Given the description of an element on the screen output the (x, y) to click on. 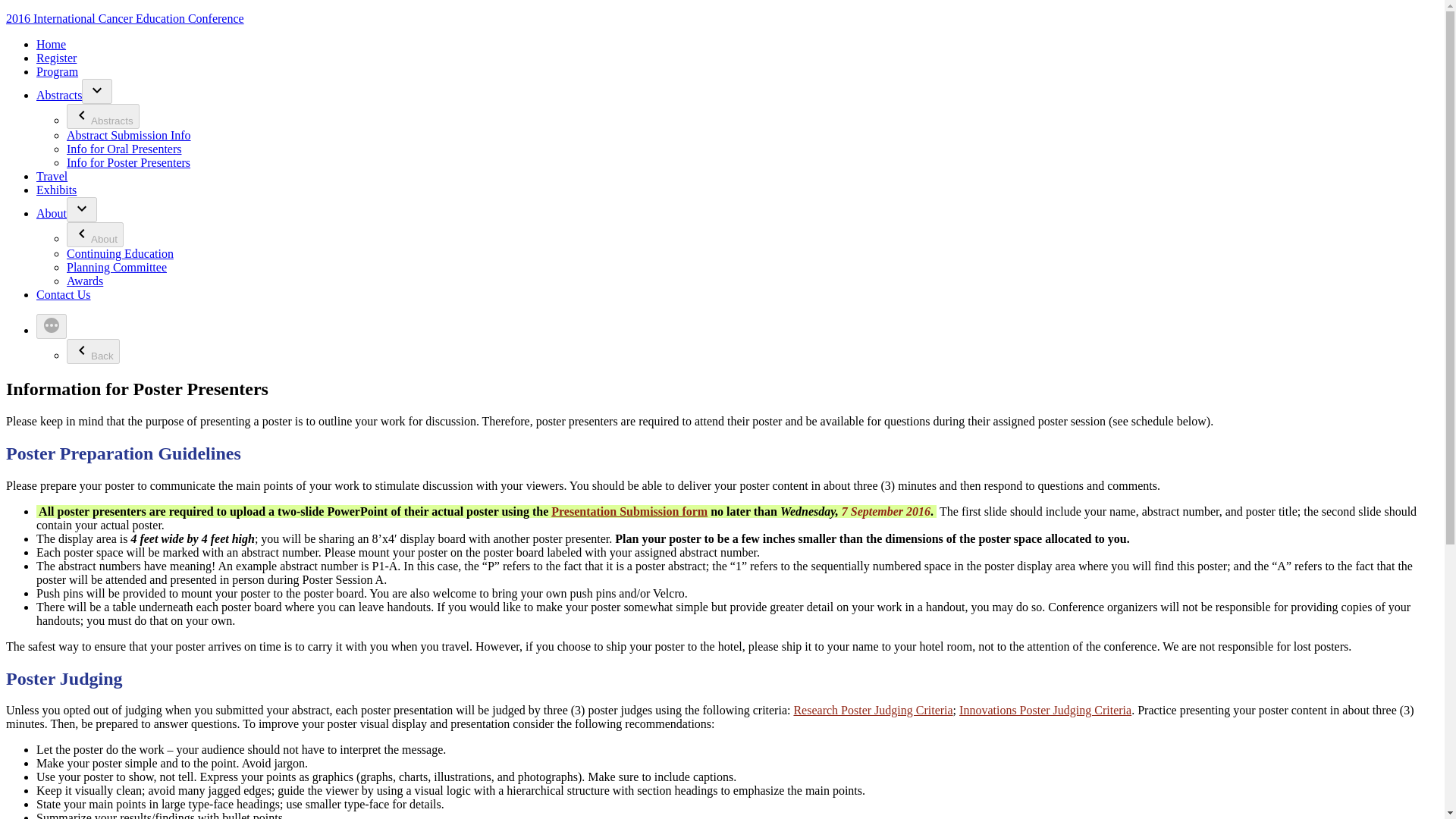
Research Poster Judging Criteria (872, 709)
Info for Poster Presenters (128, 162)
Abstract Submission Info (128, 134)
Home (50, 43)
Program (57, 71)
Presentation Submission form (629, 511)
Back (92, 351)
About (94, 234)
Register (56, 57)
2016 International Cancer Education Conference (124, 18)
Innovations Poster Judging Criteria (1045, 709)
Contact Us (63, 294)
Continuing Education (119, 253)
Abstracts (102, 116)
